Given the description of an element on the screen output the (x, y) to click on. 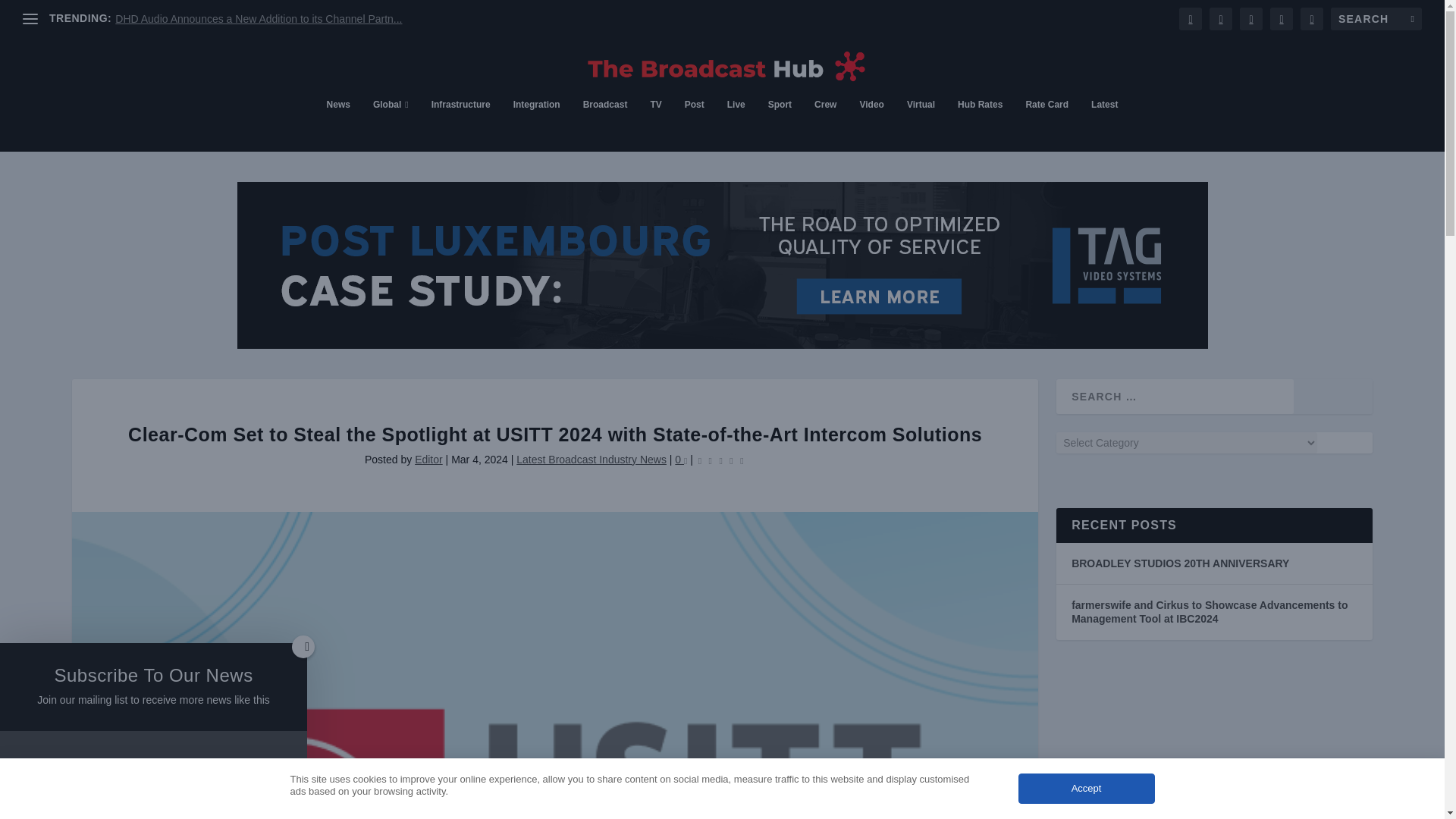
DHD Audio Announces a New Addition to its Channel Partn... (258, 19)
Infrastructure (460, 124)
Posts by Editor (428, 459)
Rating: 0.00 (720, 459)
Search for: (1376, 18)
